Given the description of an element on the screen output the (x, y) to click on. 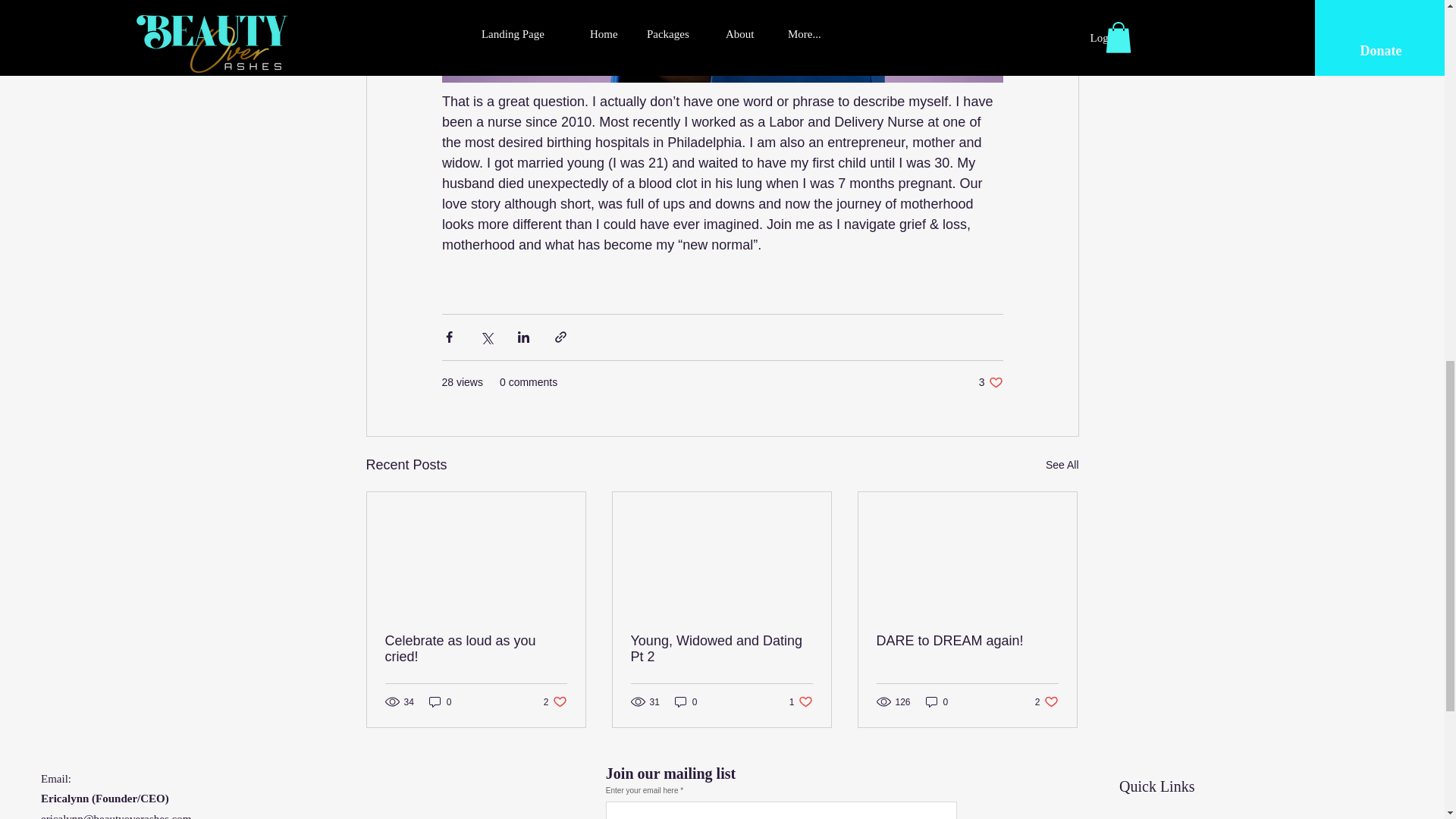
About (990, 382)
0 (1133, 818)
Young, Widowed and Dating Pt 2 (440, 701)
0 (555, 701)
DARE to DREAM again! (721, 649)
See All (937, 701)
Celebrate as loud as you cried! (967, 641)
0 (1061, 464)
